Given the description of an element on the screen output the (x, y) to click on. 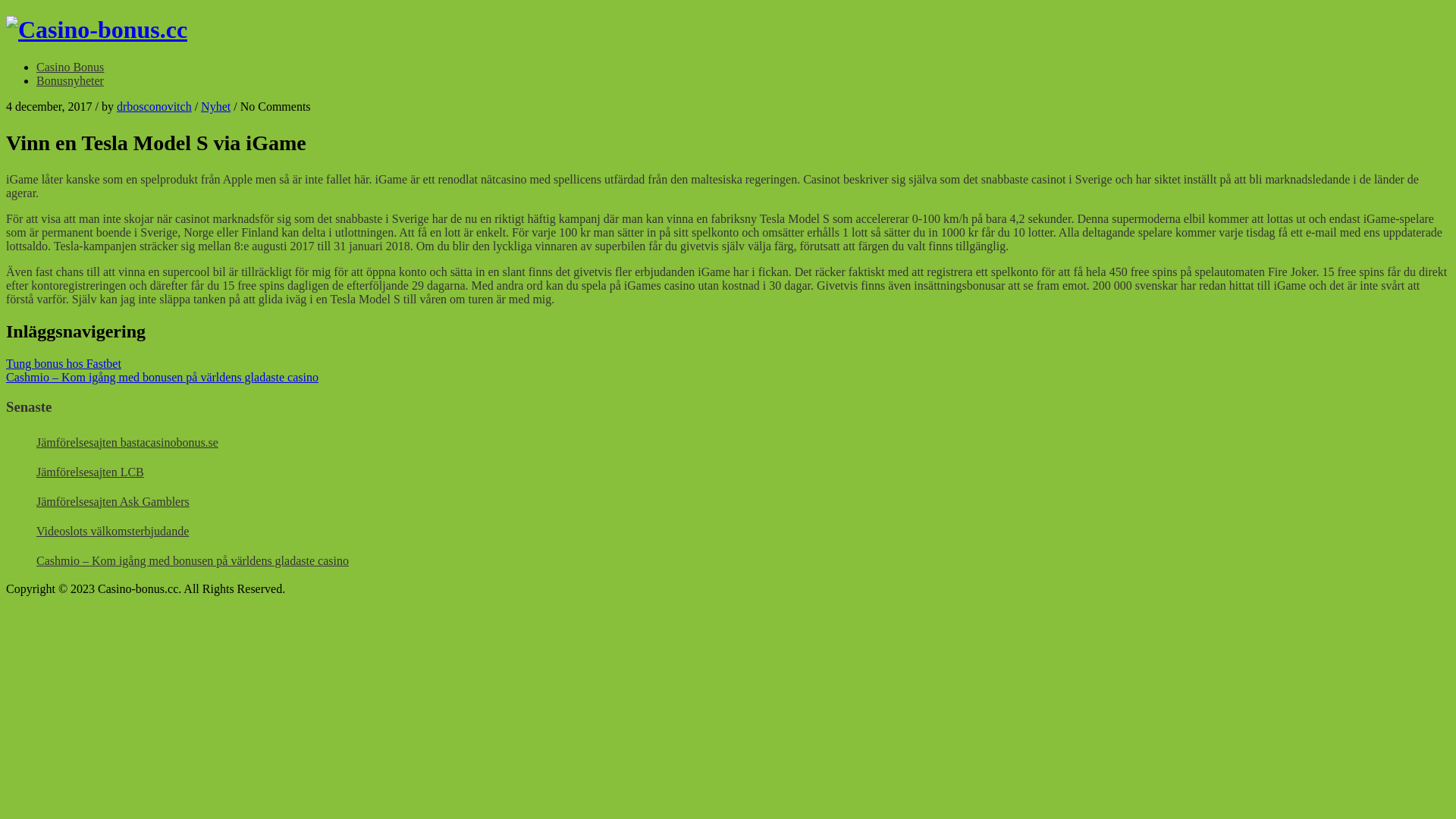
Tung bonus hos Fastbet Element type: text (63, 363)
drbosconovitch Element type: text (153, 106)
Casino Bonus Element type: text (69, 66)
Bonusnyheter Element type: text (69, 80)
Nyhet Element type: text (215, 106)
